Given the description of an element on the screen output the (x, y) to click on. 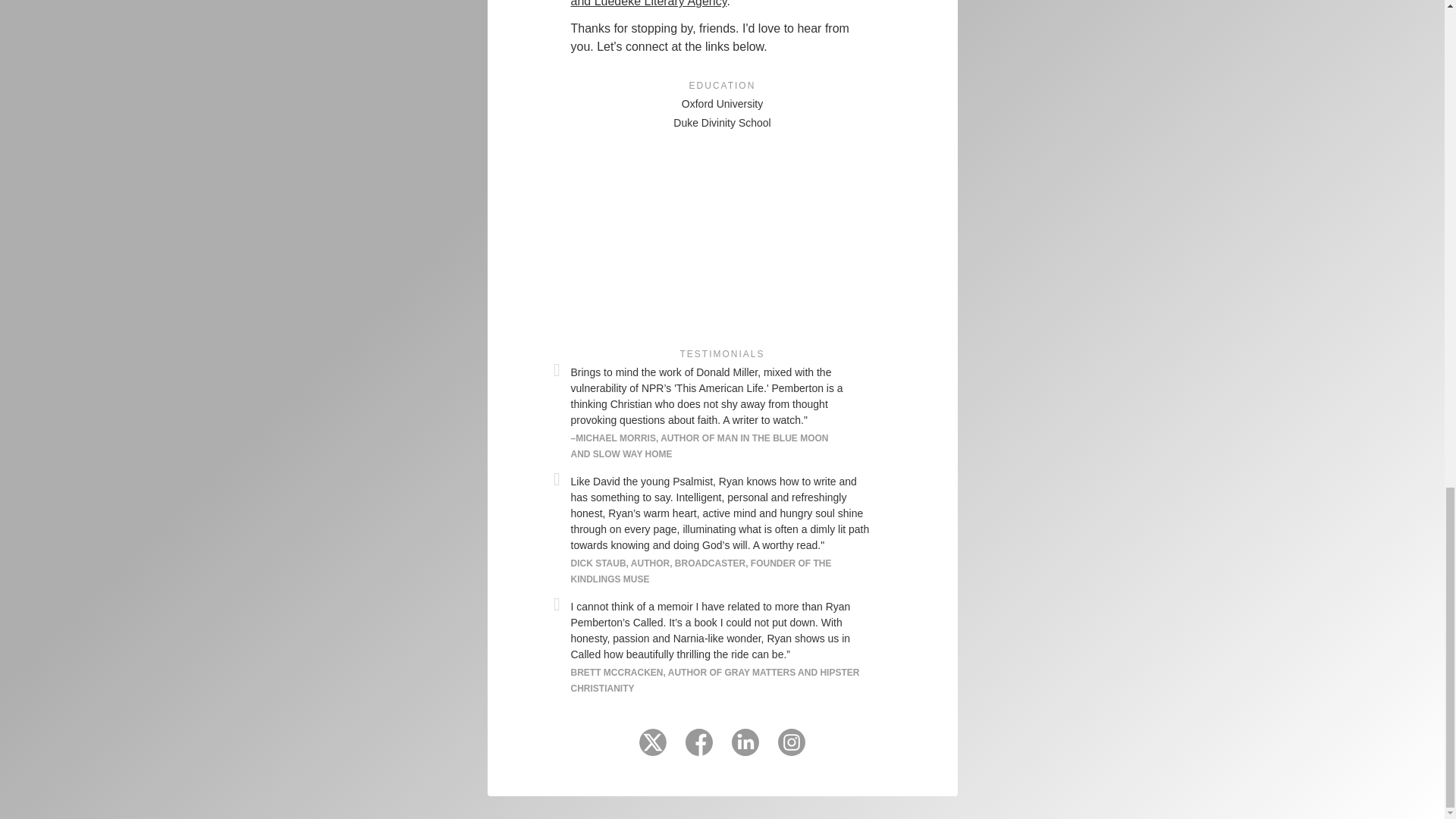
MacGregor and Luedeke Literary Agency (711, 3)
Visit me on LinkedIn (745, 747)
Visit me on Instagram (791, 747)
Visit me on Facebook (699, 747)
Visit me on Twitter (652, 747)
